Given the description of an element on the screen output the (x, y) to click on. 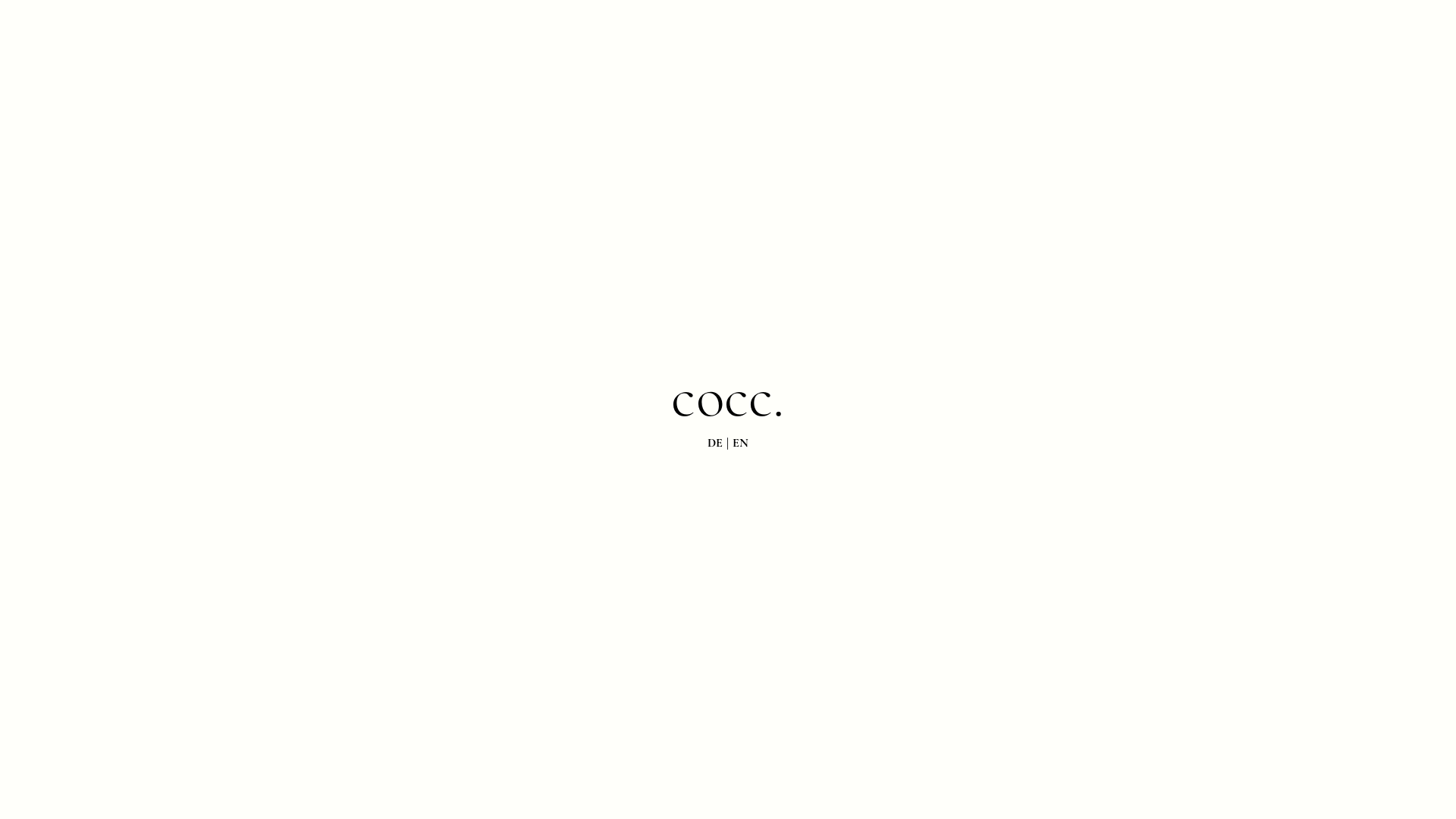
EN Element type: text (738, 442)
Kontakt Element type: text (1376, 788)
DE Element type: text (716, 442)
Projekte Element type: text (1375, 27)
Logo COCC. Element type: hover (76, 27)
Go back Home Element type: text (727, 455)
Studio Element type: text (1221, 27)
